Given the description of an element on the screen output the (x, y) to click on. 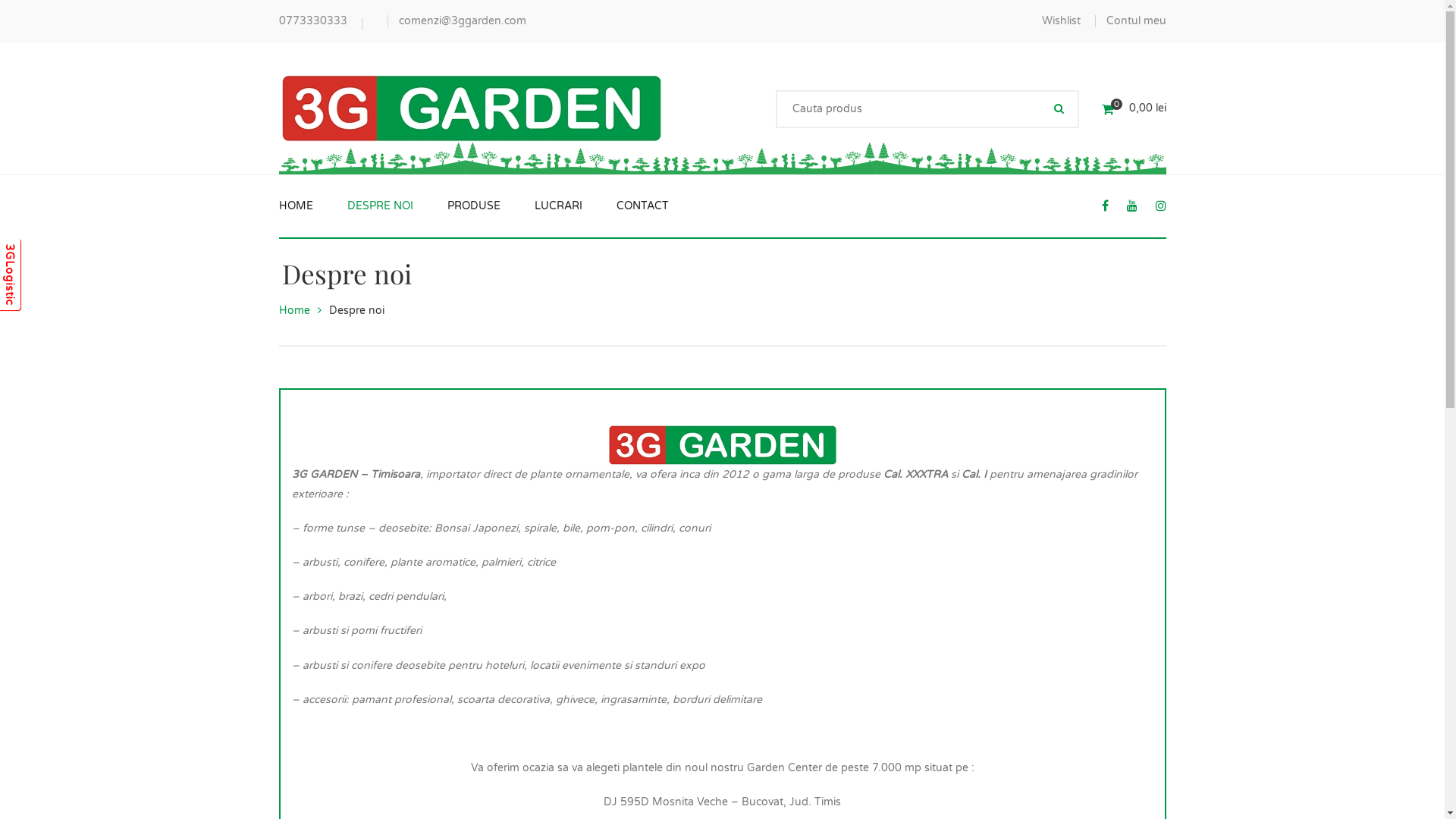
LUCRARI Element type: text (557, 206)
PRODUSE Element type: text (473, 206)
comenzi@3ggarden.com Element type: text (462, 20)
CONTACT Element type: text (641, 206)
0773330333 Element type: text (313, 20)
Home Element type: text (294, 310)
HOME Element type: text (296, 206)
Contul meu Element type: text (1135, 20)
DESPRE NOI Element type: text (380, 206)
Wishlist Element type: text (1060, 20)
